Given the description of an element on the screen output the (x, y) to click on. 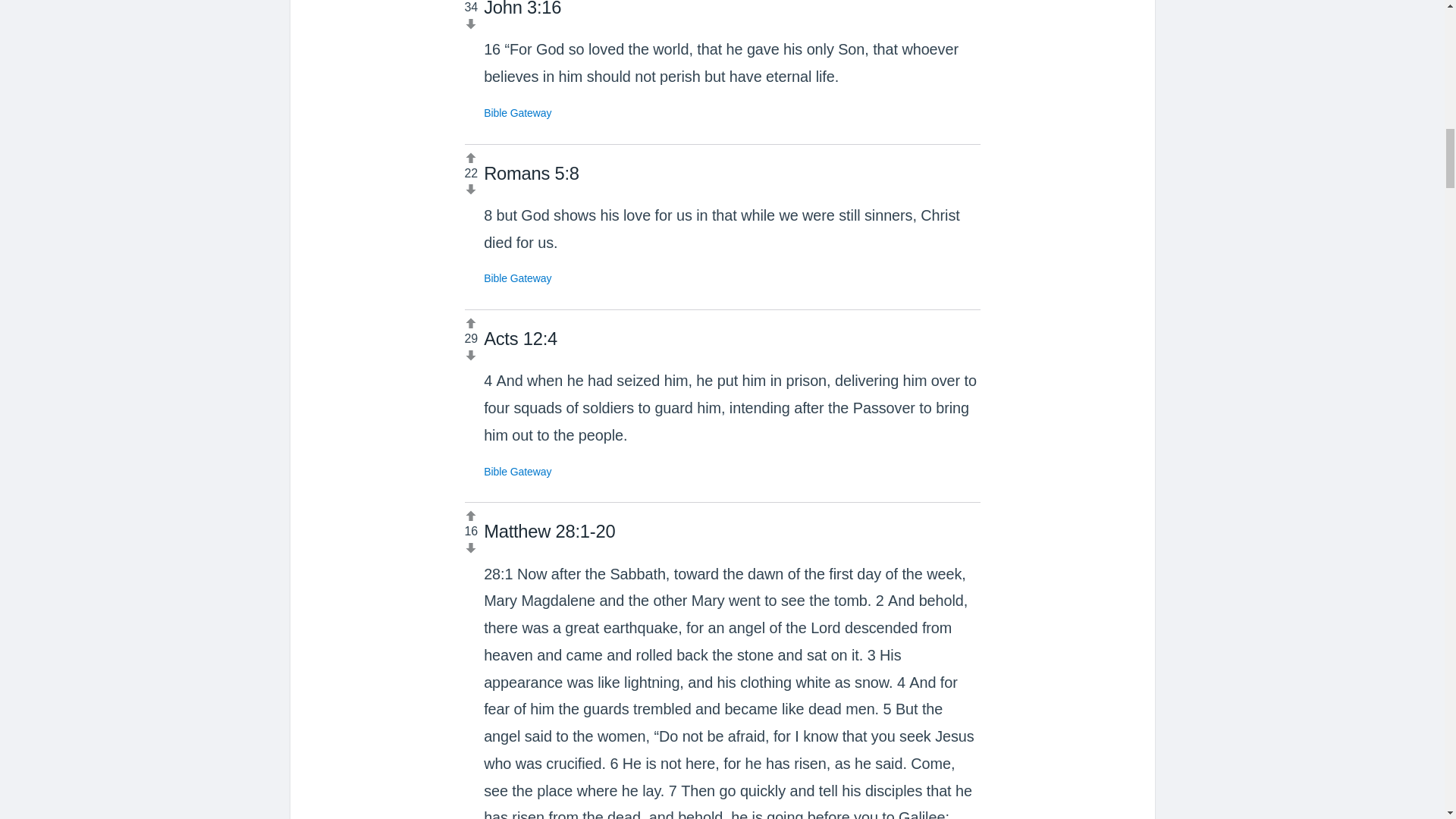
Bible Gateway (517, 277)
Bible Gateway (517, 112)
Bible Gateway (517, 471)
